Given the description of an element on the screen output the (x, y) to click on. 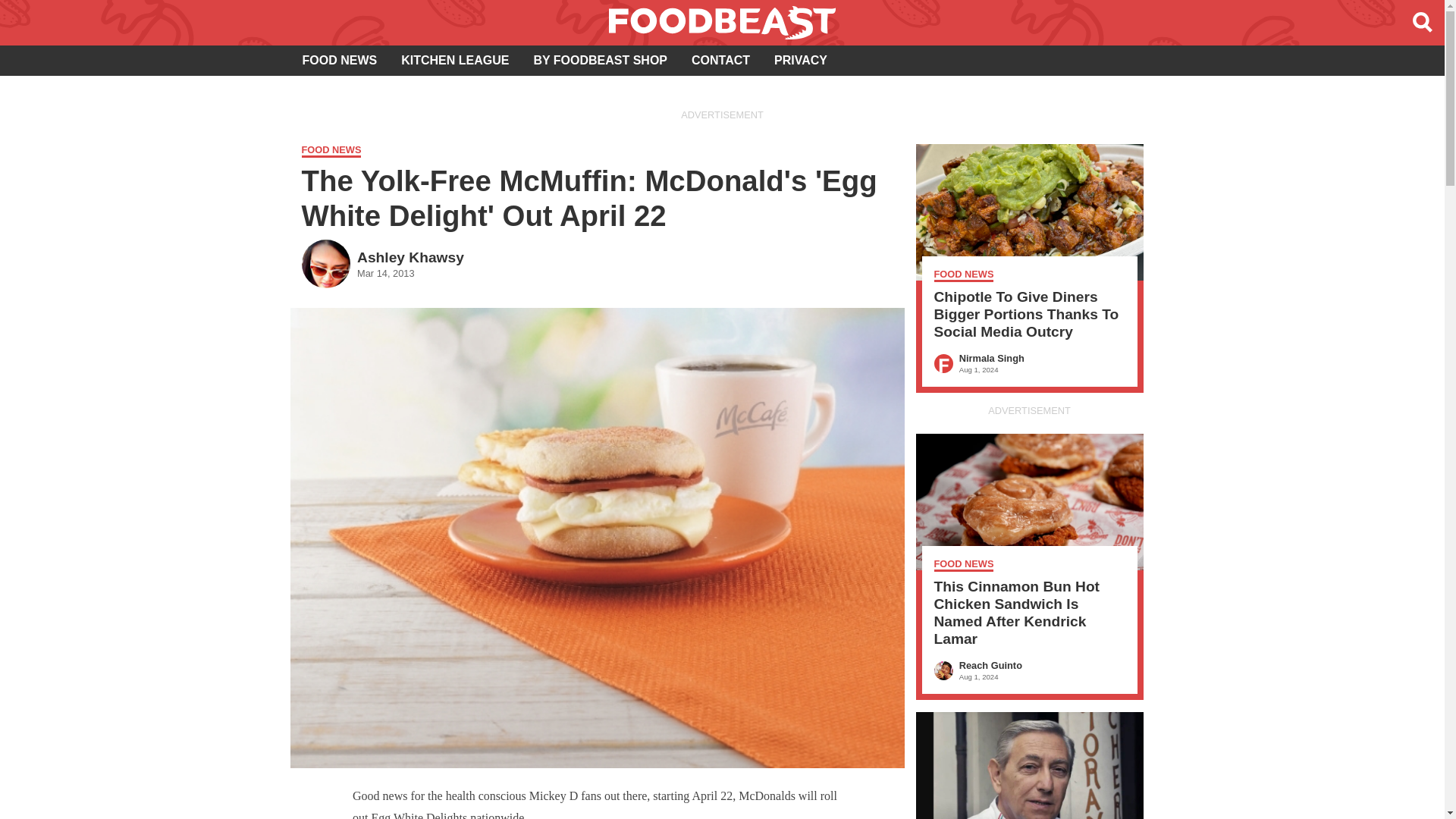
FOOD NEWS (382, 262)
KITCHEN LEAGUE (338, 60)
CONTACT (454, 60)
BY FOODBEAST SHOP (720, 60)
PRIVACY (600, 60)
GET FOOD NEWS (800, 60)
